Given the description of an element on the screen output the (x, y) to click on. 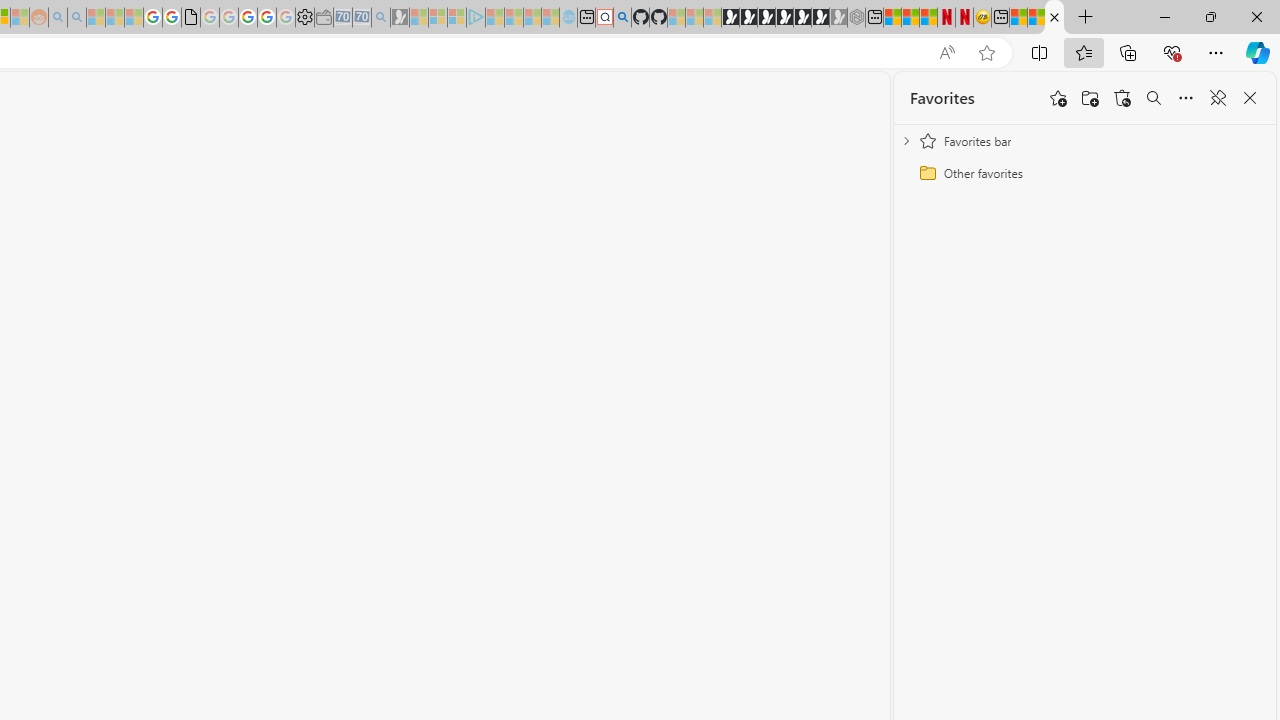
Microsoft Start Gaming - Sleeping (399, 17)
